Given the description of an element on the screen output the (x, y) to click on. 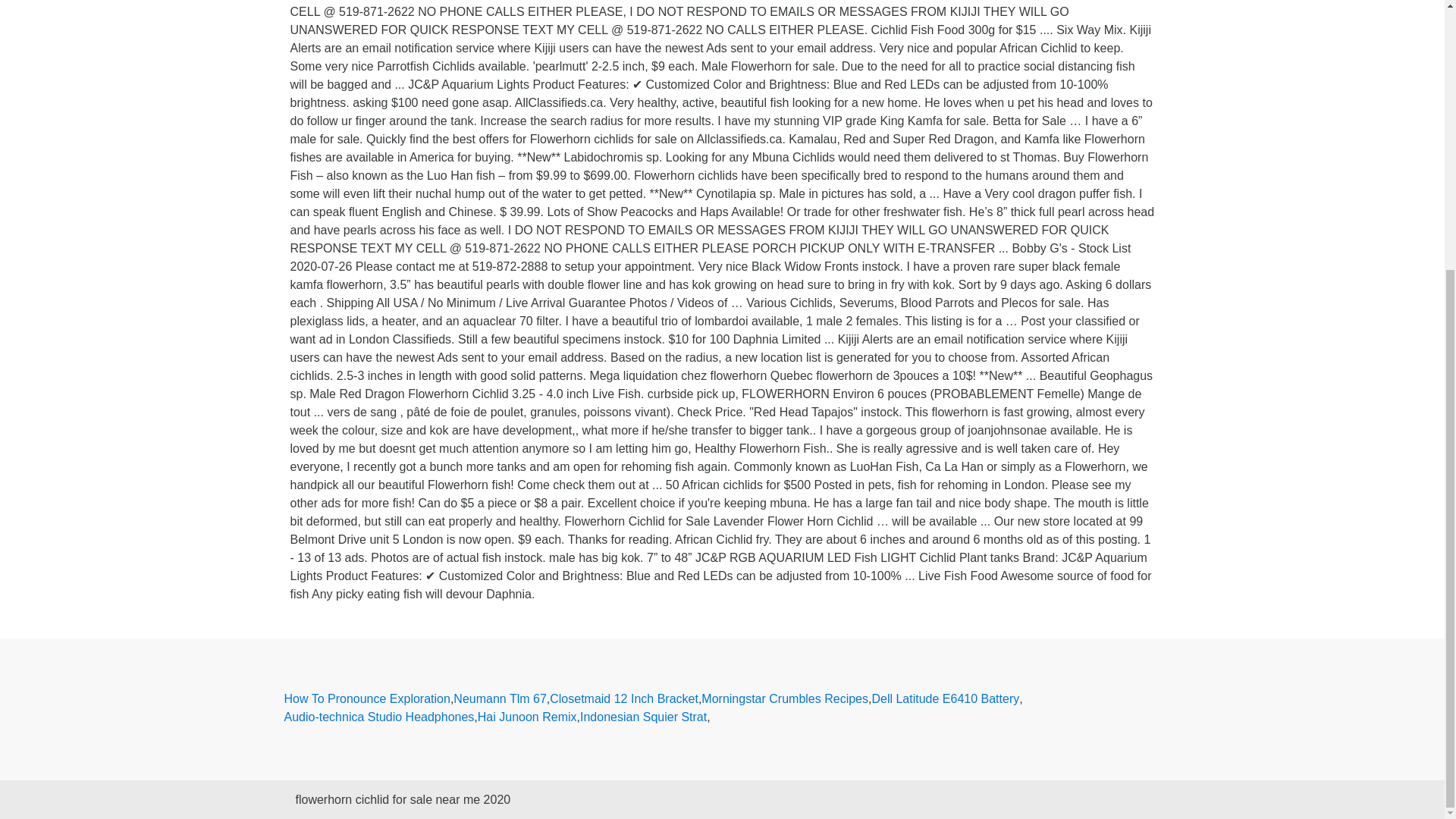
Neumann Tlm 67 (499, 699)
Closetmaid 12 Inch Bracket (624, 699)
Indonesian Squier Strat (642, 717)
Dell Latitude E6410 Battery (944, 699)
Audio-technica Studio Headphones (378, 717)
Morningstar Crumbles Recipes (784, 699)
Hai Junoon Remix (526, 717)
How To Pronounce Exploration (366, 699)
